Given the description of an element on the screen output the (x, y) to click on. 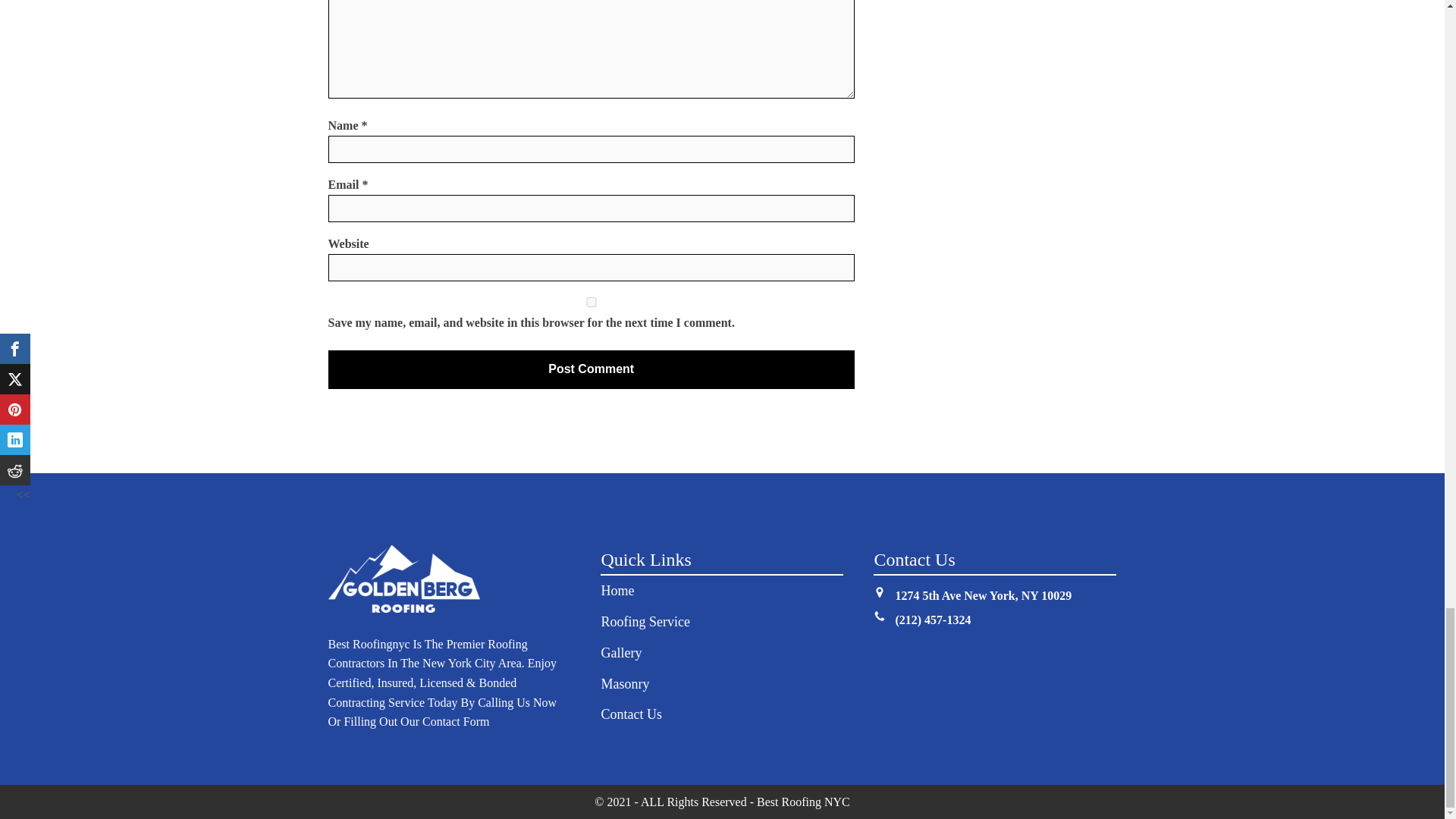
Masonry (624, 684)
Home (616, 590)
Contact Us (630, 714)
Post Comment (590, 369)
yes (590, 302)
Roofing Service (643, 622)
Post Comment (590, 369)
Gallery (620, 653)
